Given the description of an element on the screen output the (x, y) to click on. 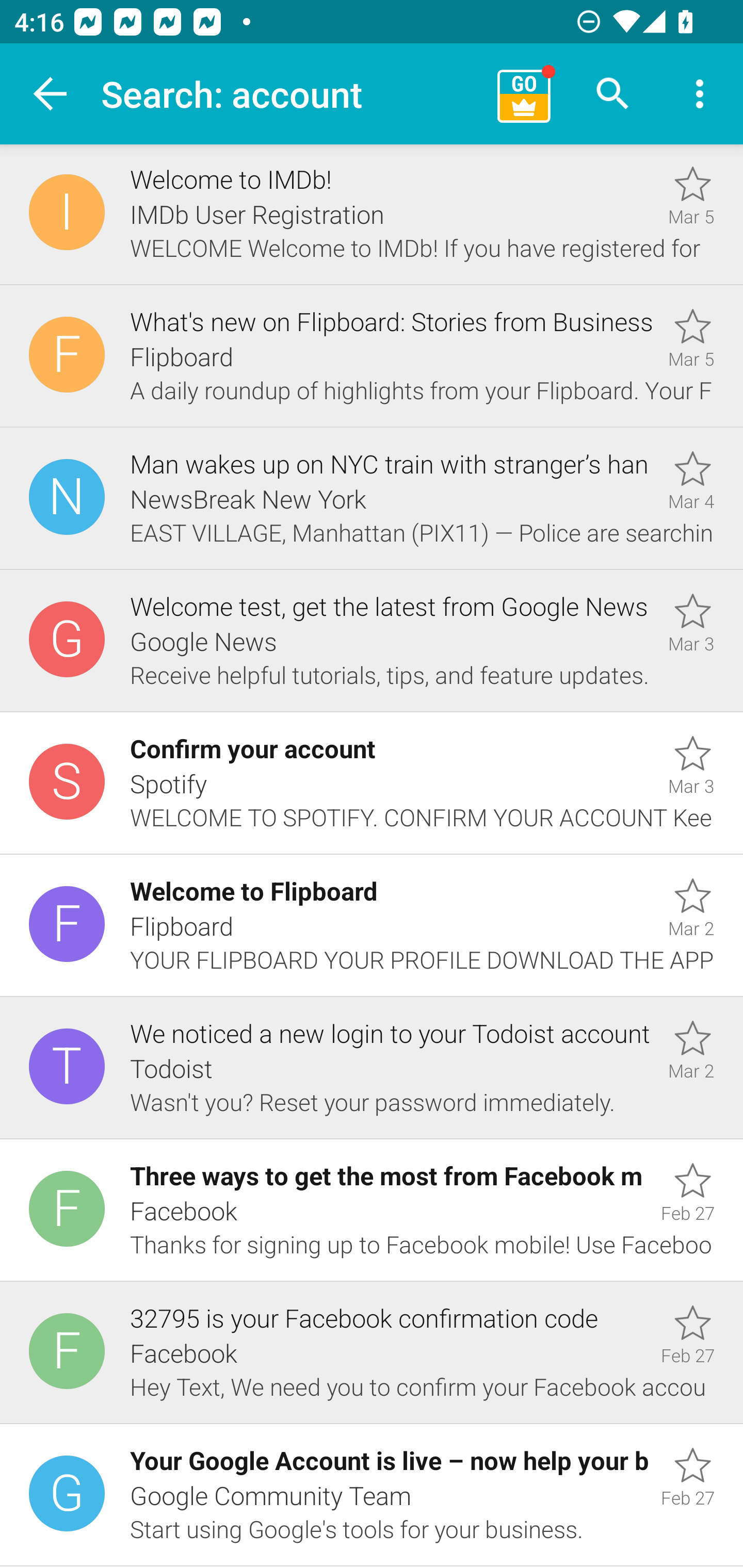
Navigate up (50, 93)
Search (612, 93)
More options (699, 93)
